Given the description of an element on the screen output the (x, y) to click on. 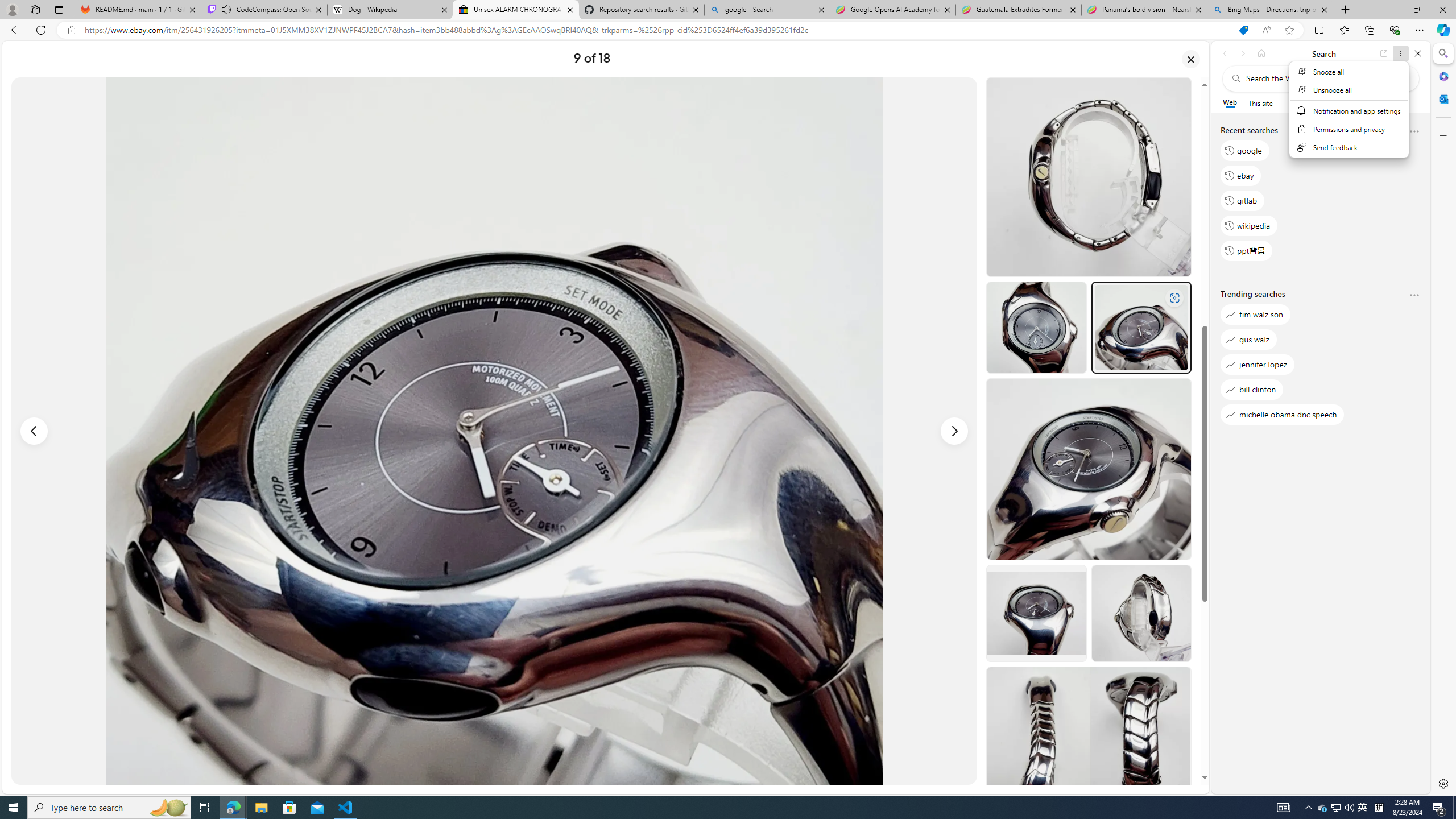
Picture 9 of 18 (493, 430)
bill clinton (1252, 389)
